Given the description of an element on the screen output the (x, y) to click on. 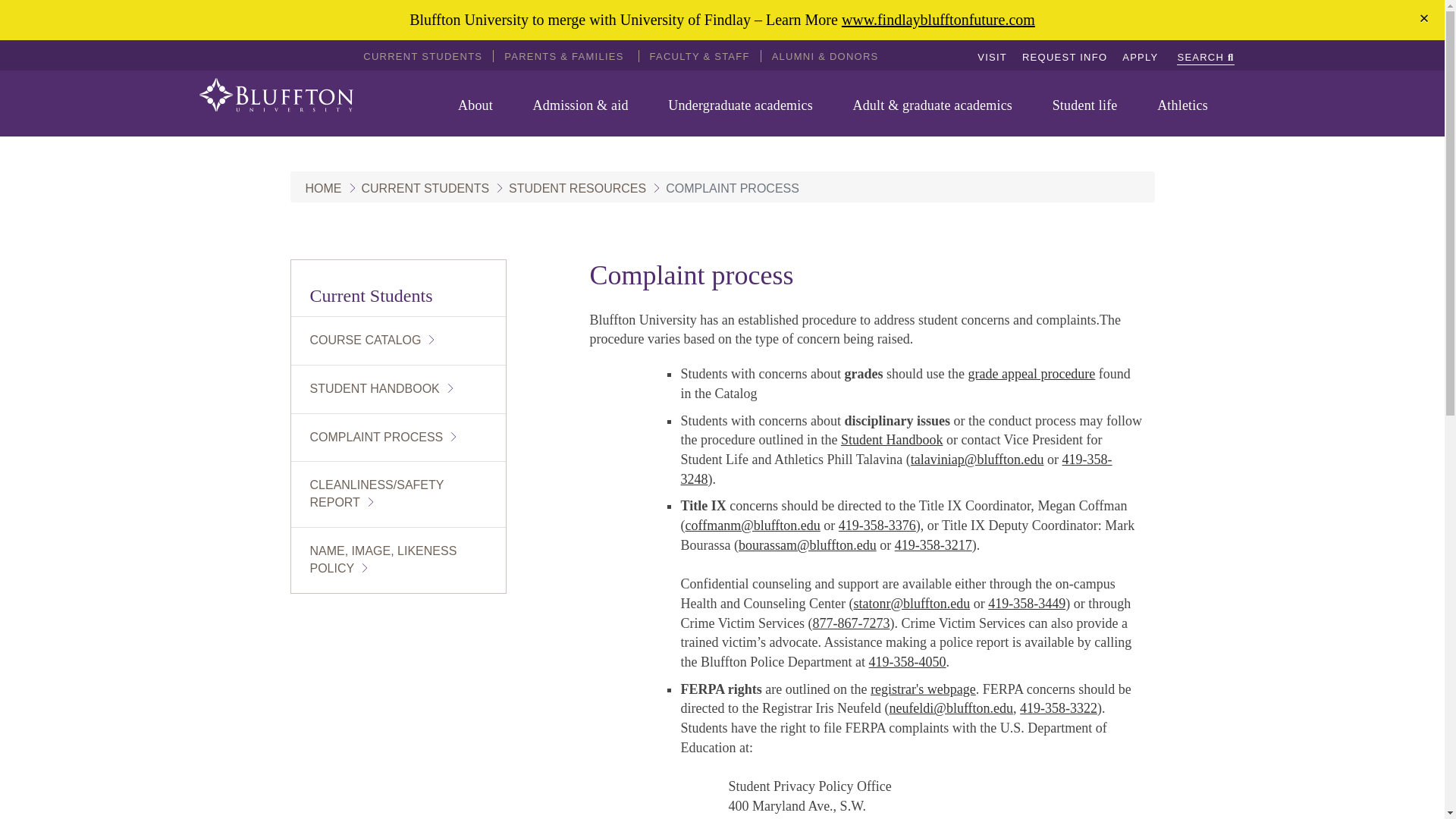
Student life (1090, 105)
www.findlayblufftonfuture.com (938, 19)
Undergraduate academics (745, 105)
About (481, 105)
